Given the description of an element on the screen output the (x, y) to click on. 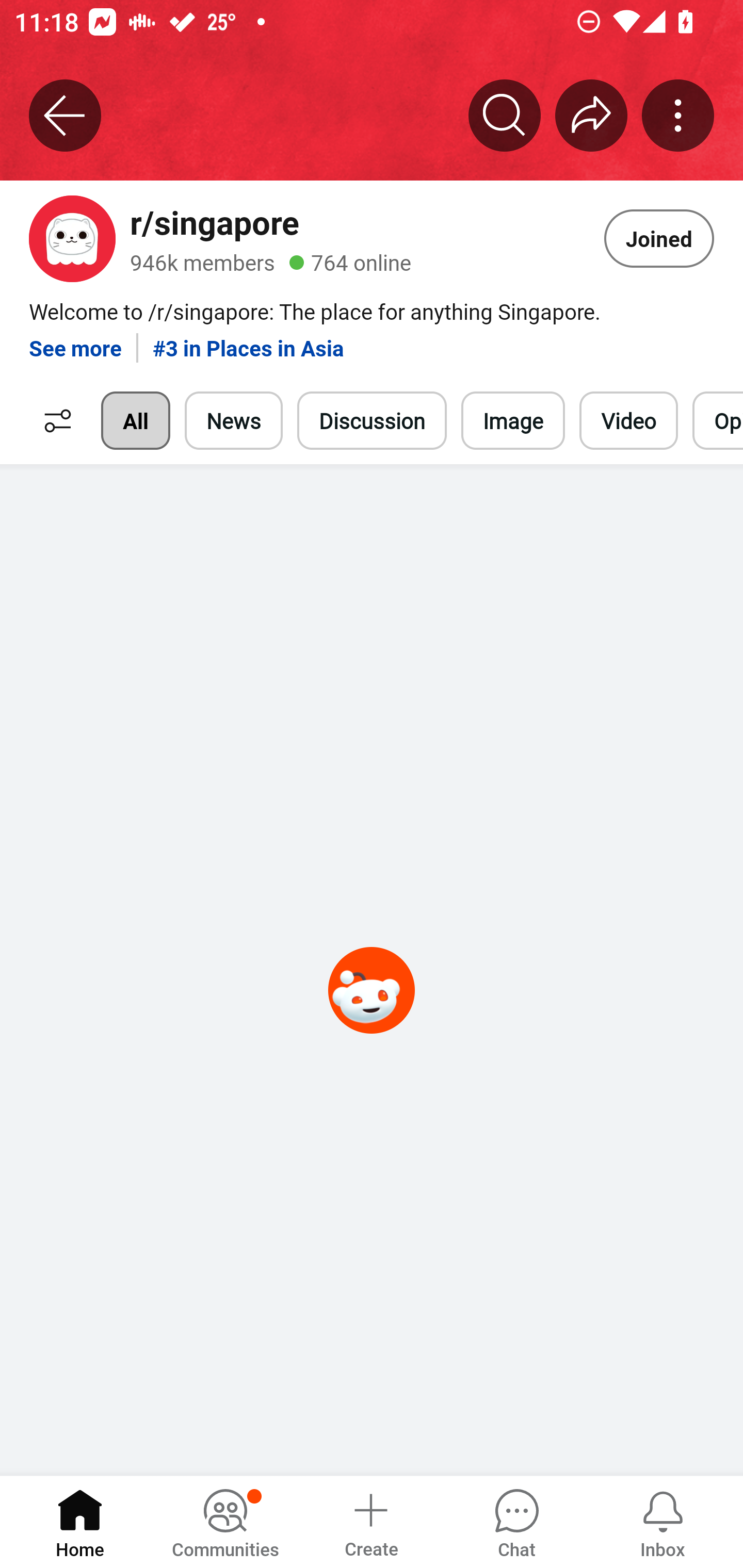
Back (64, 115)
Search r/﻿singapore (504, 115)
Share r/﻿singapore (591, 115)
More community actions (677, 115)
See more (74, 340)
#3 in Places in Asia (248, 340)
Feed Options (53, 421)
All (135, 421)
News (234, 421)
Discussion (371, 421)
Image (512, 421)
Video (628, 421)
Home (80, 1520)
Communities, has notifications Communities (225, 1520)
Create a post Create (370, 1520)
Chat (516, 1520)
Inbox (662, 1520)
